Given the description of an element on the screen output the (x, y) to click on. 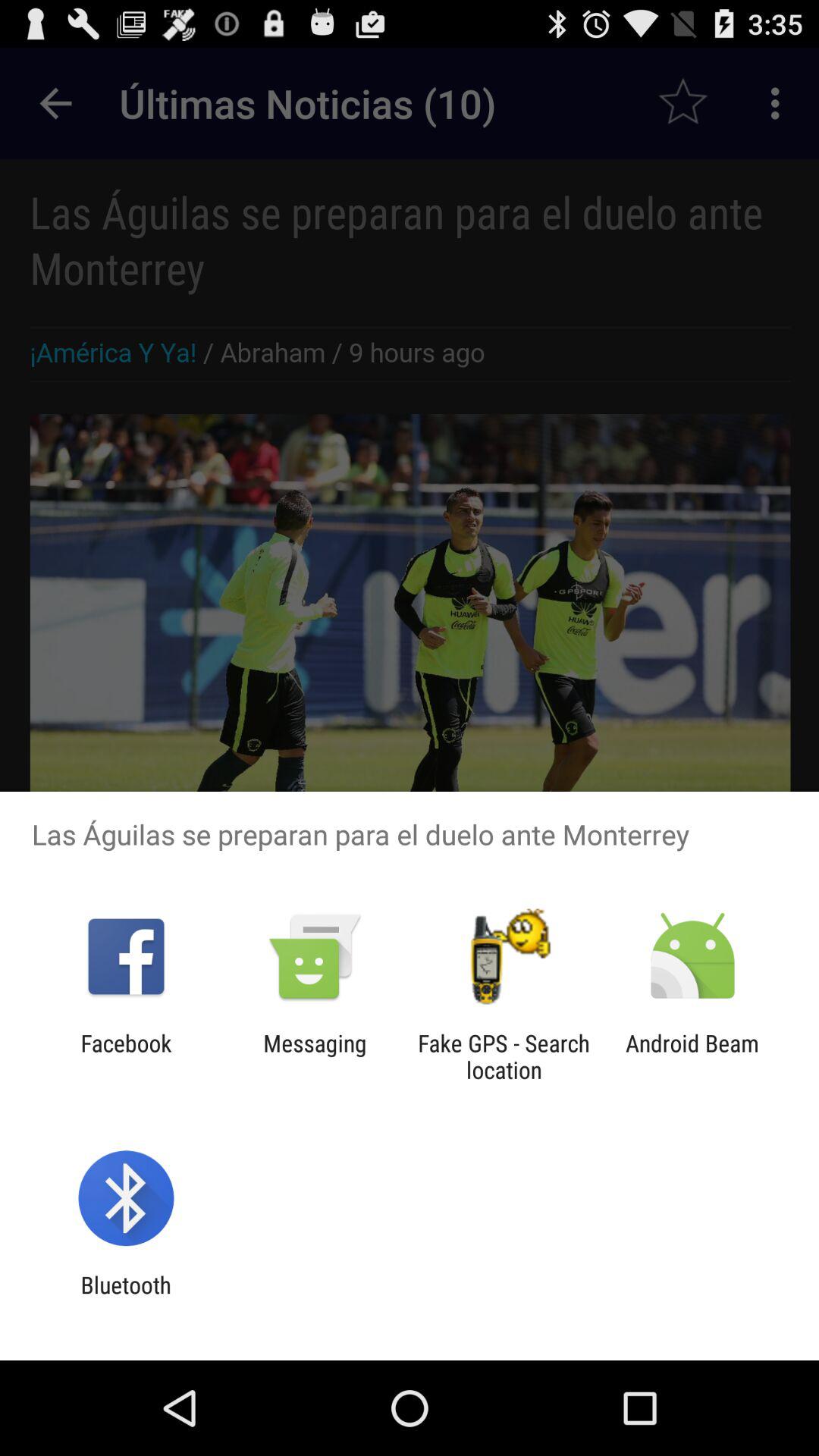
scroll until bluetooth item (125, 1298)
